Given the description of an element on the screen output the (x, y) to click on. 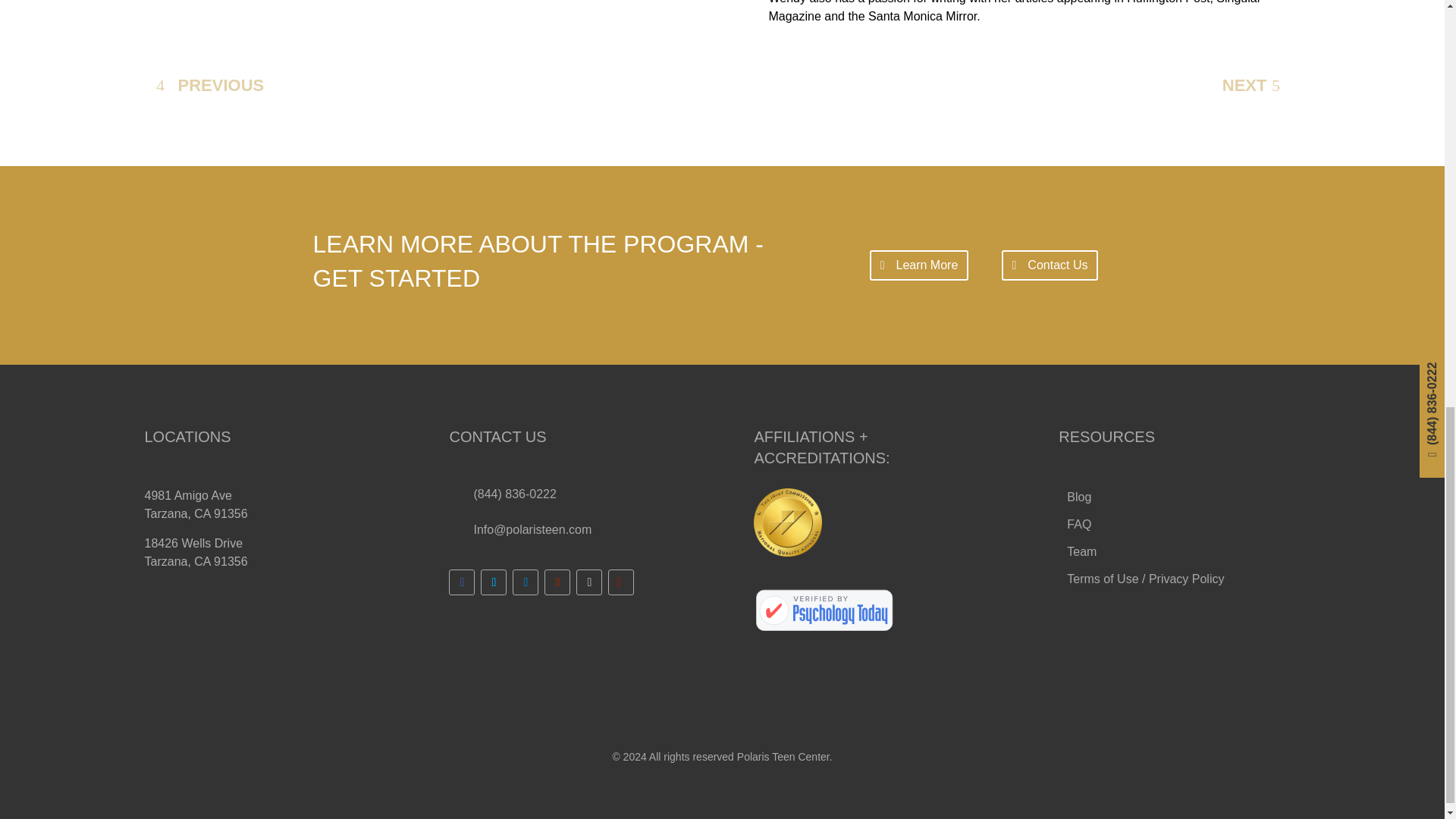
Follow on LinkedIn (525, 582)
Follow on RSS (620, 582)
joint-commission-polaris-teen-center (788, 522)
Follow on Facebook (461, 582)
Follow on Youtube (557, 582)
footerbutton (1145, 582)
Follow on X (493, 582)
Polaris Teen Center, LLC - Adolescent Residential (824, 610)
Follow on Instagram (589, 582)
